Given the description of an element on the screen output the (x, y) to click on. 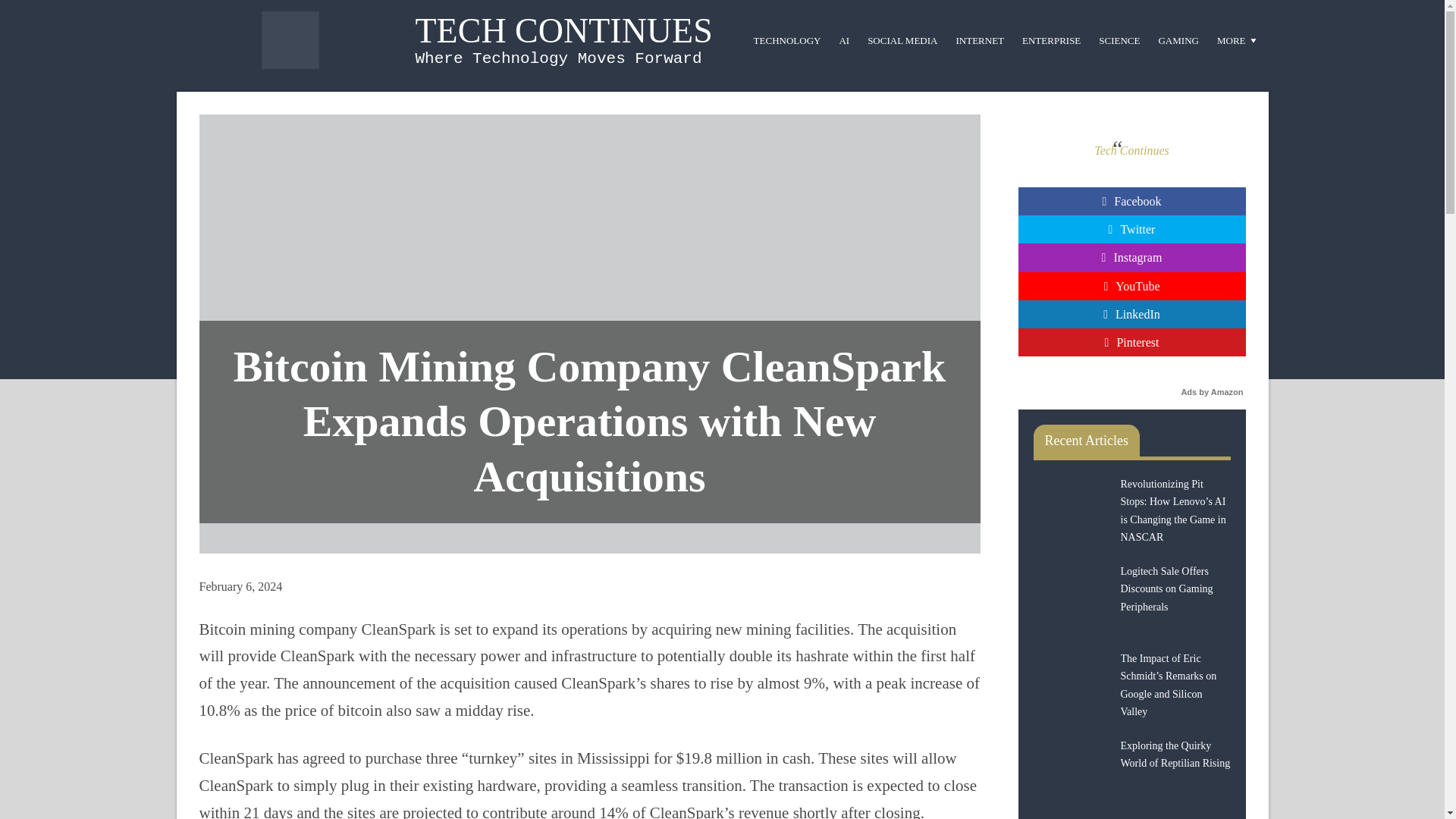
ENTERPRISE (1051, 39)
TECH CONTINUES (563, 30)
GAMING (1177, 39)
INTERNET (979, 39)
MORE (1238, 39)
SOCIAL MEDIA (902, 39)
SCIENCE (1118, 39)
TECHNOLOGY (786, 39)
